Given the description of an element on the screen output the (x, y) to click on. 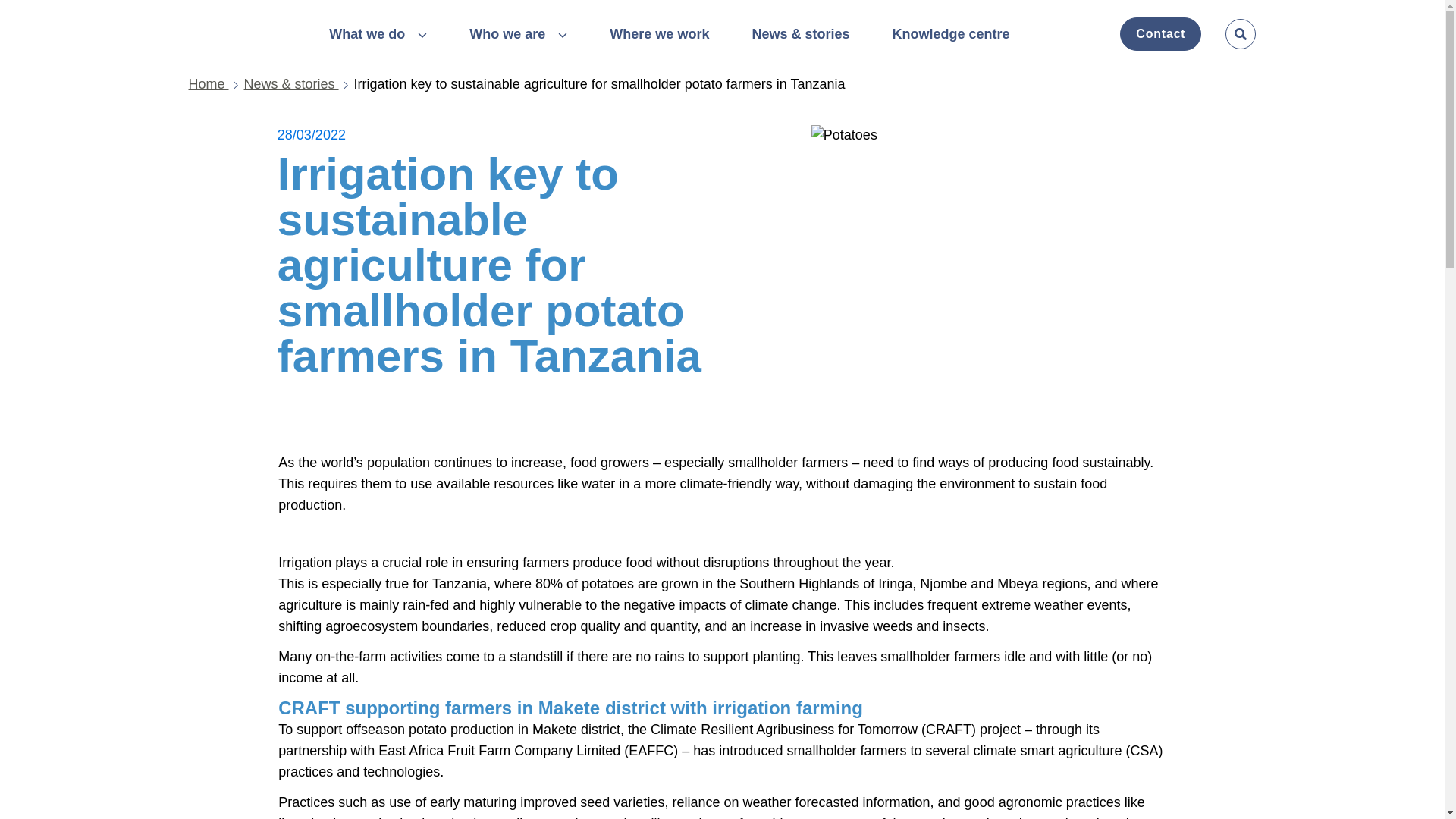
Where we work (659, 32)
Knowledge centre (950, 32)
What we do (377, 34)
Who we are (517, 34)
Home (215, 84)
Contact (1160, 33)
